Given the description of an element on the screen output the (x, y) to click on. 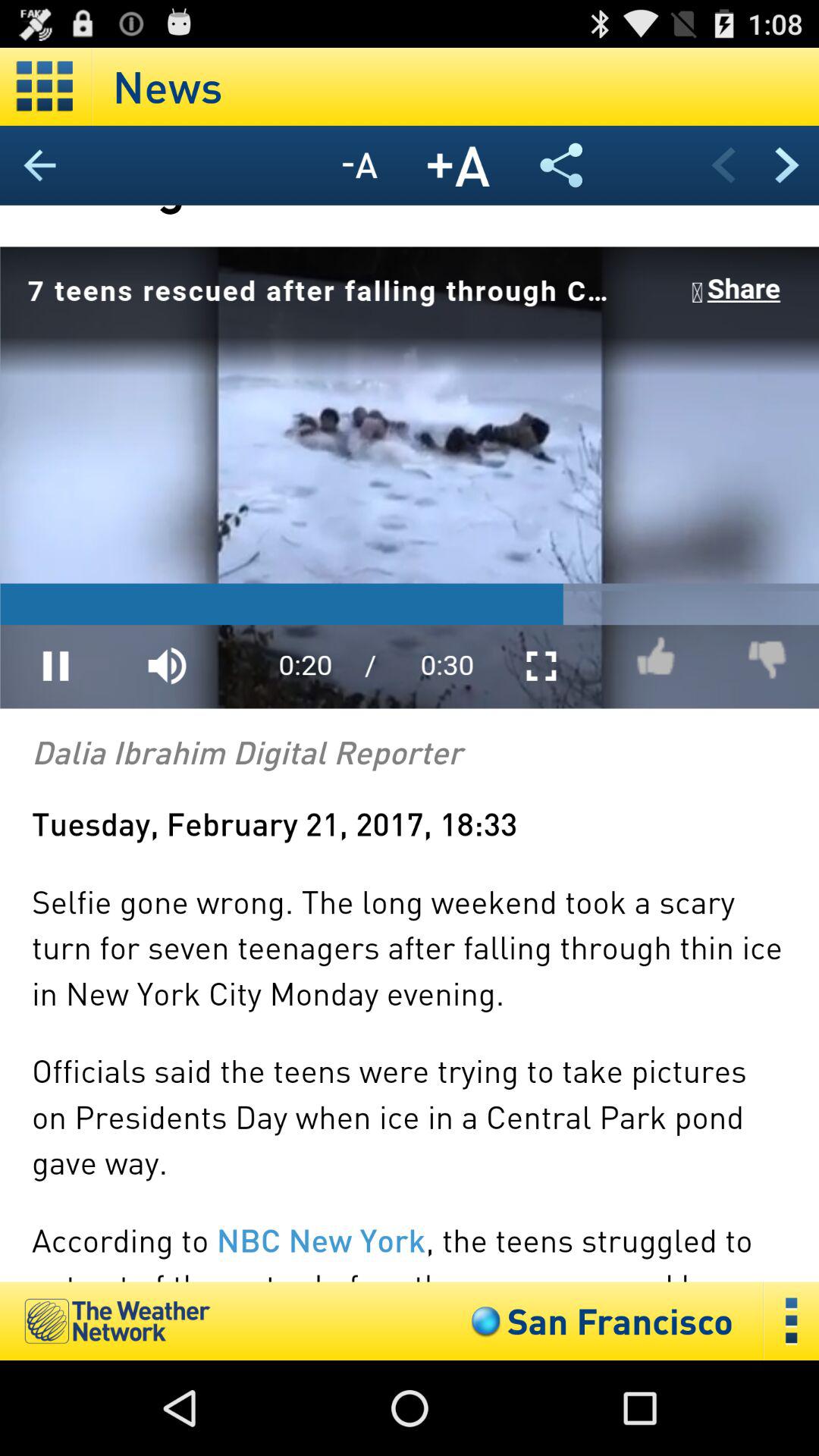
page left (723, 165)
